Given the description of an element on the screen output the (x, y) to click on. 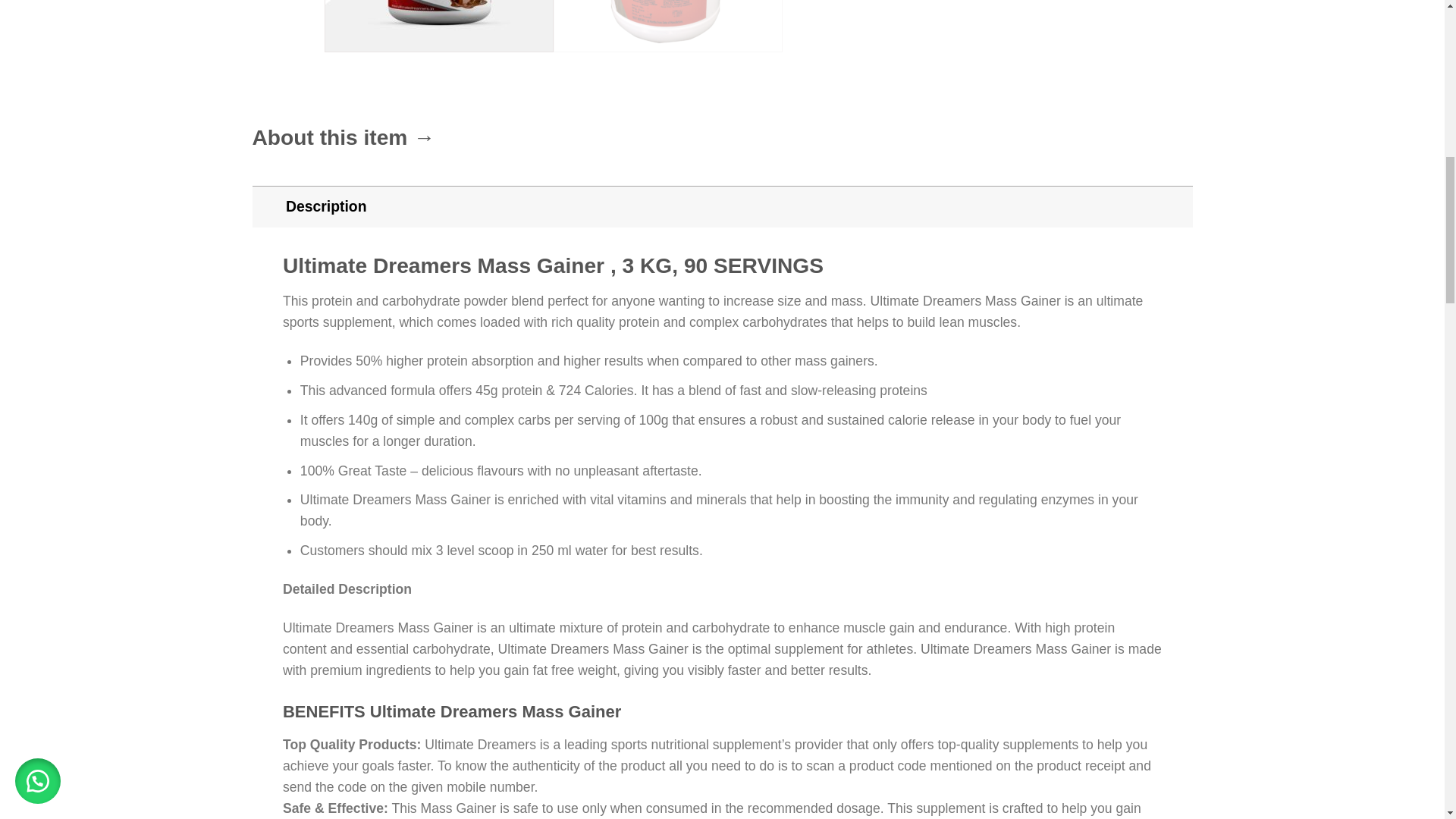
5 (666, 25)
Ultimate Mass (437, 25)
Description (721, 206)
